Given the description of an element on the screen output the (x, y) to click on. 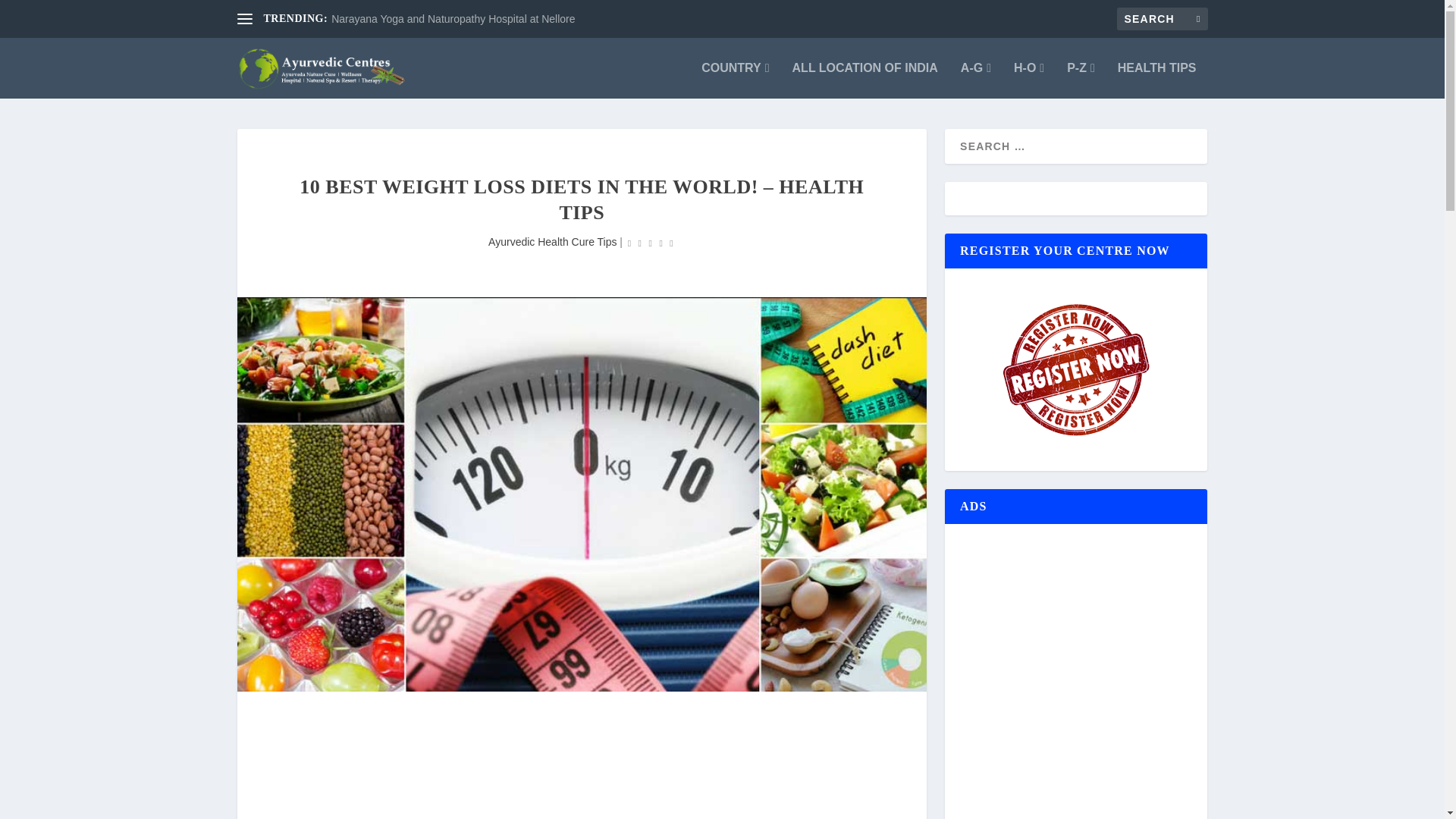
Narayana Yoga and Naturopathy Hospital at Nellore (453, 19)
Rating: 0.00 (650, 242)
COUNTRY (734, 80)
ALL LOCATION OF INDIA (864, 80)
Advertisement (580, 770)
Search for: (1161, 18)
